Given the description of an element on the screen output the (x, y) to click on. 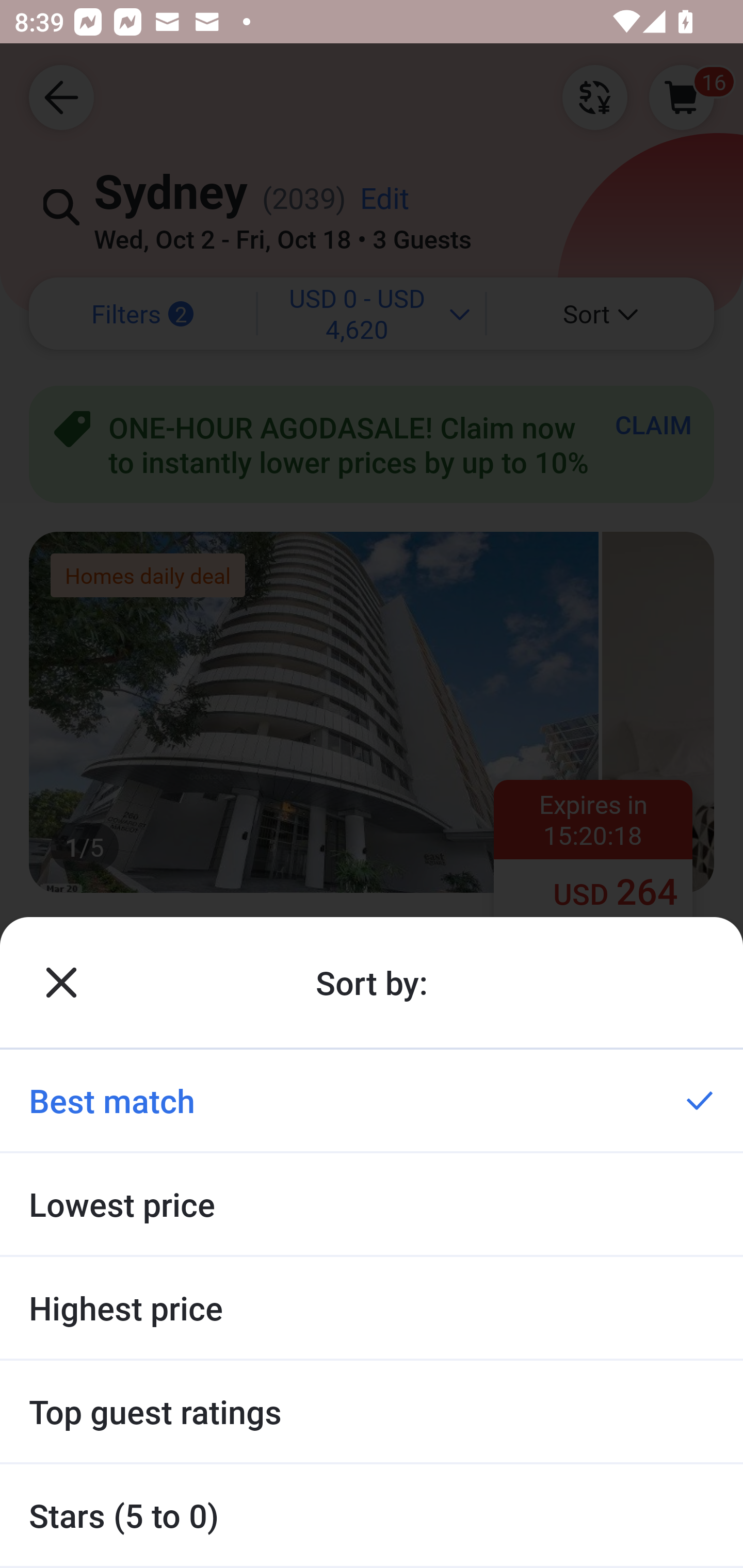
Best match (371, 1099)
Lowest price (371, 1204)
Highest price (371, 1307)
Top guest ratings (371, 1411)
Stars (5 to 0) (371, 1515)
